Given the description of an element on the screen output the (x, y) to click on. 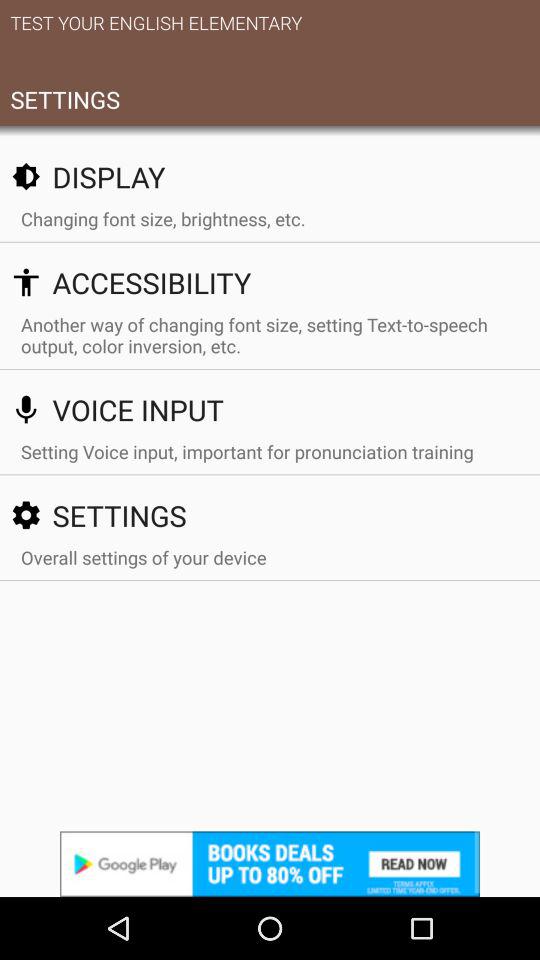
advertisement link (270, 864)
